Given the description of an element on the screen output the (x, y) to click on. 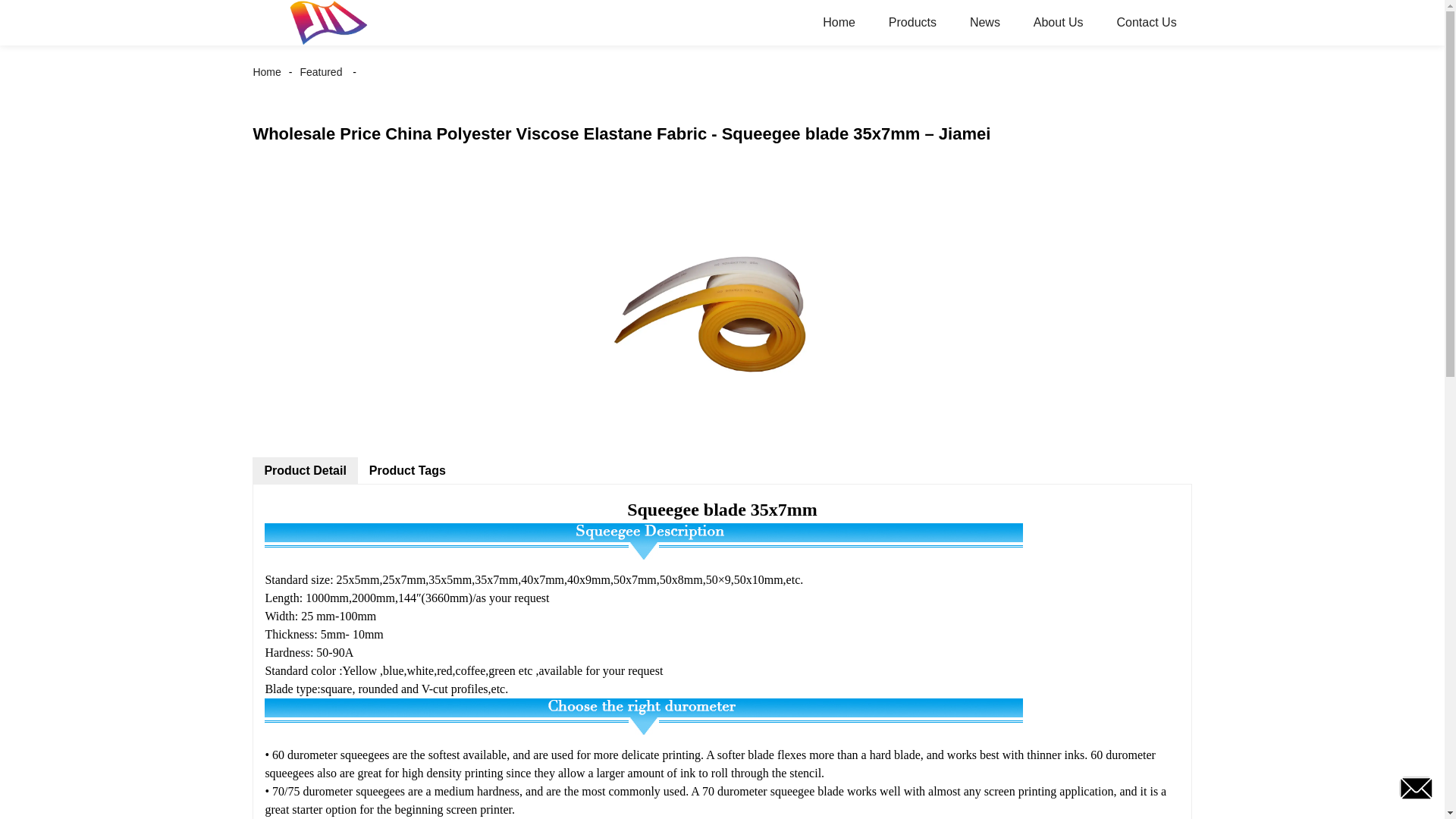
About Us (1058, 22)
Home (839, 22)
Contact Us (1145, 22)
Featured (320, 71)
News (984, 22)
Products (912, 22)
Home (269, 71)
Featured (320, 71)
